Given the description of an element on the screen output the (x, y) to click on. 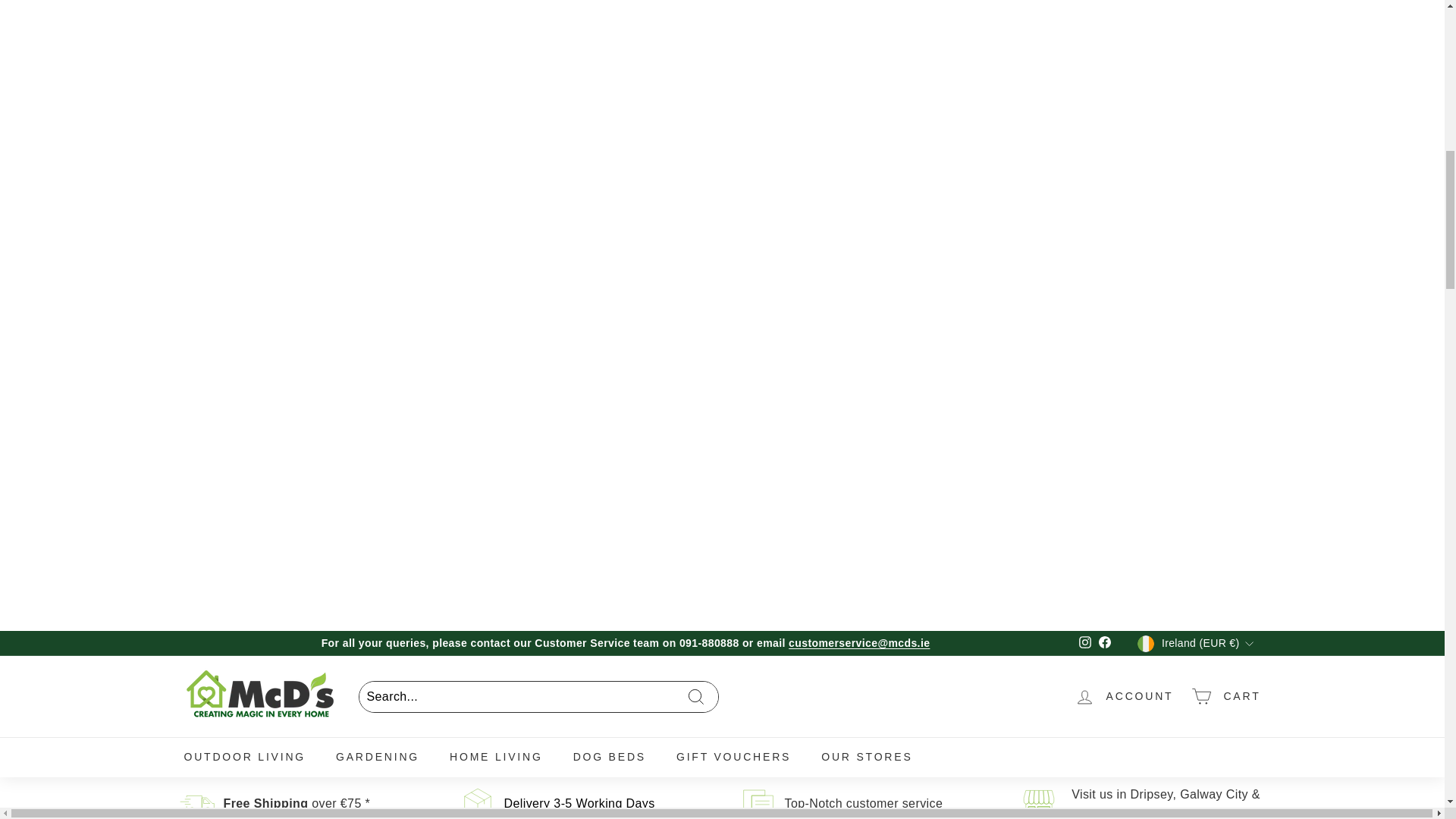
ACCOUNT (1123, 696)
OUTDOOR LIVING (244, 757)
Contact (1165, 803)
Contact (863, 802)
